Given the description of an element on the screen output the (x, y) to click on. 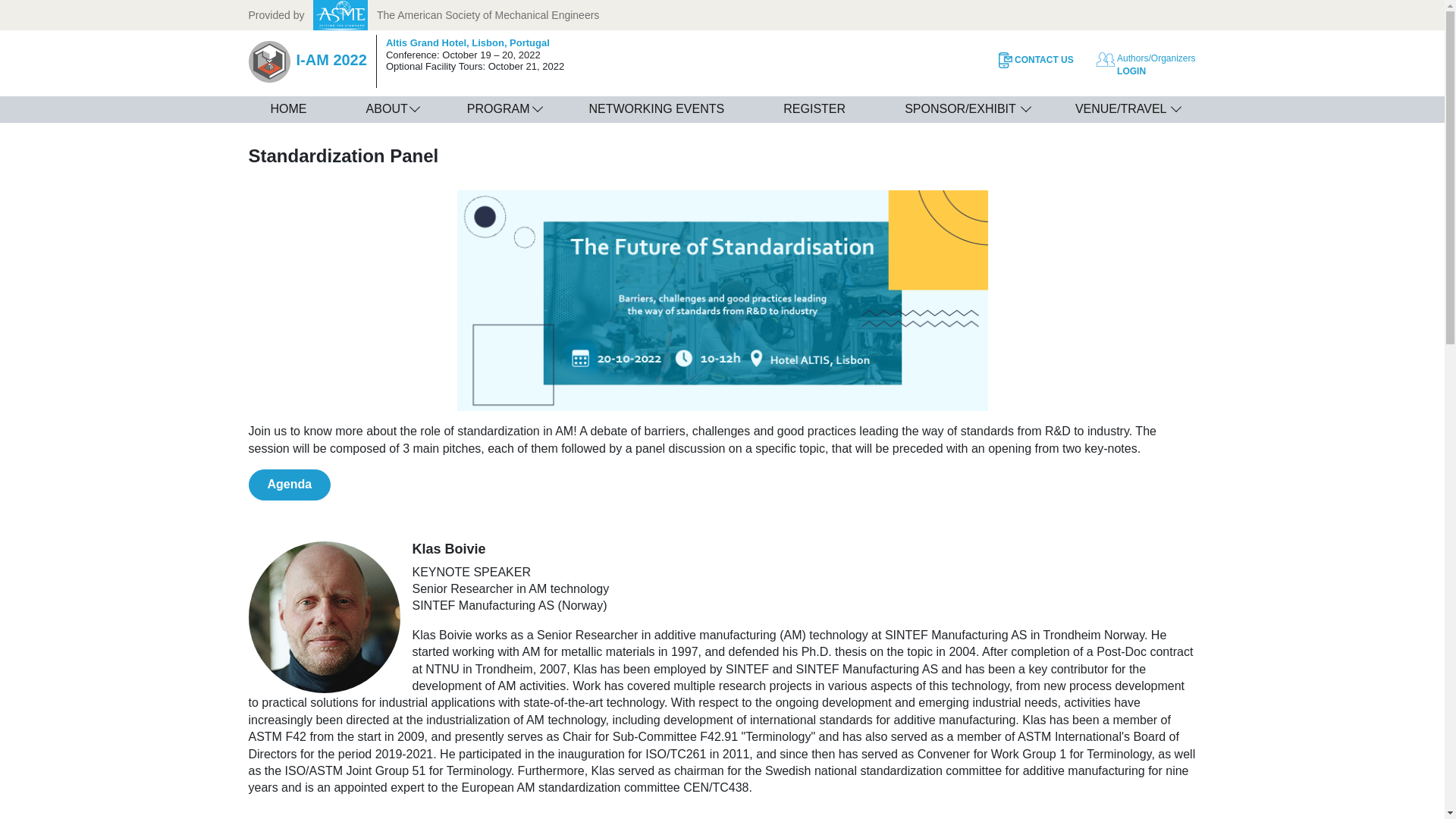
CONTACT US (1028, 59)
PROGRAM (498, 109)
REGISTER (814, 109)
ABOUT (386, 109)
HOME (288, 109)
NETWORKING EVENTS (655, 109)
